Given the description of an element on the screen output the (x, y) to click on. 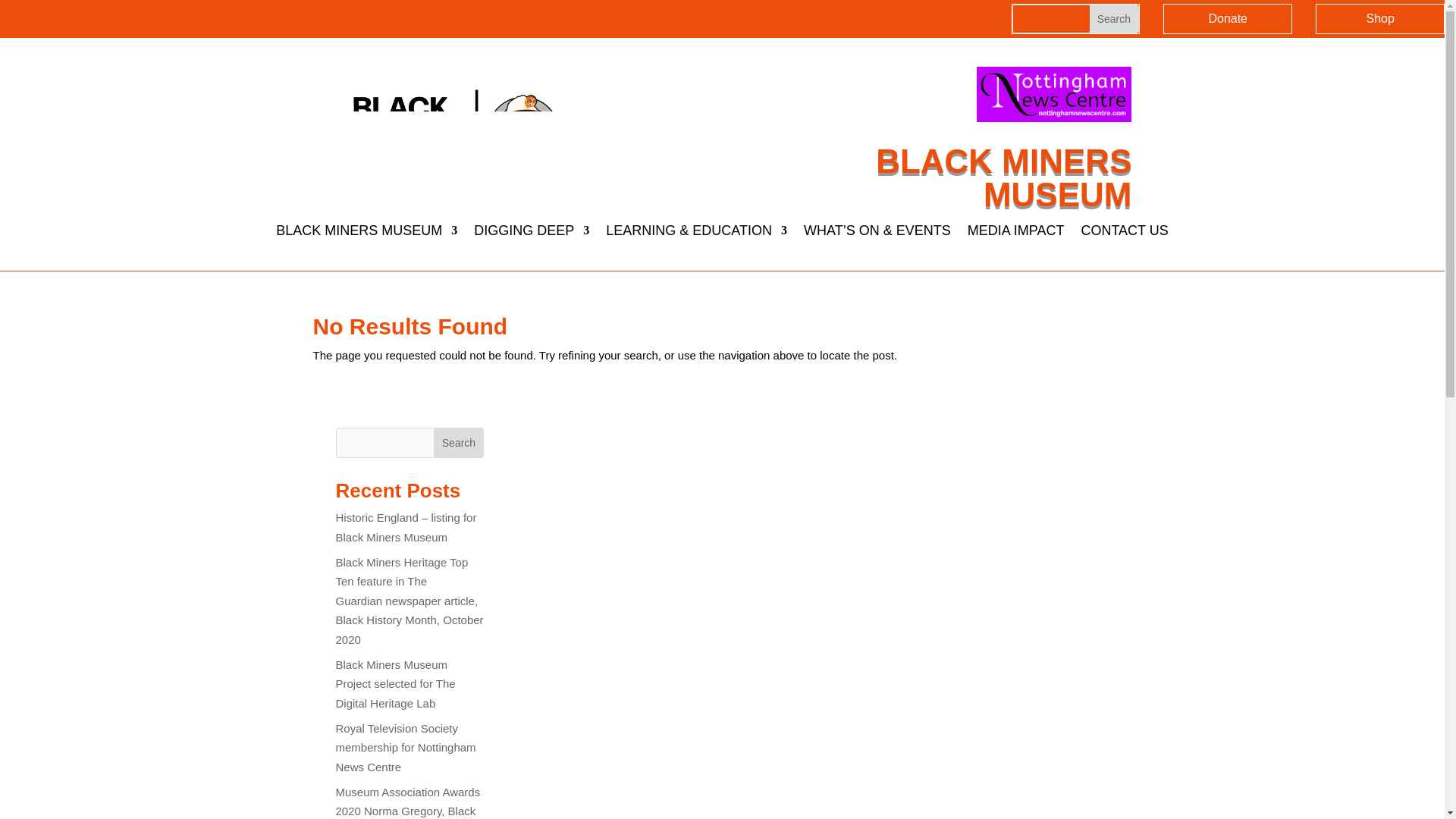
LogoDesigns-03 (448, 131)
BLACK MINERS MUSEUM (366, 233)
CONTACT US (1123, 233)
Search (1113, 18)
Search (1113, 18)
DIGGING DEEP (531, 233)
